Given the description of an element on the screen output the (x, y) to click on. 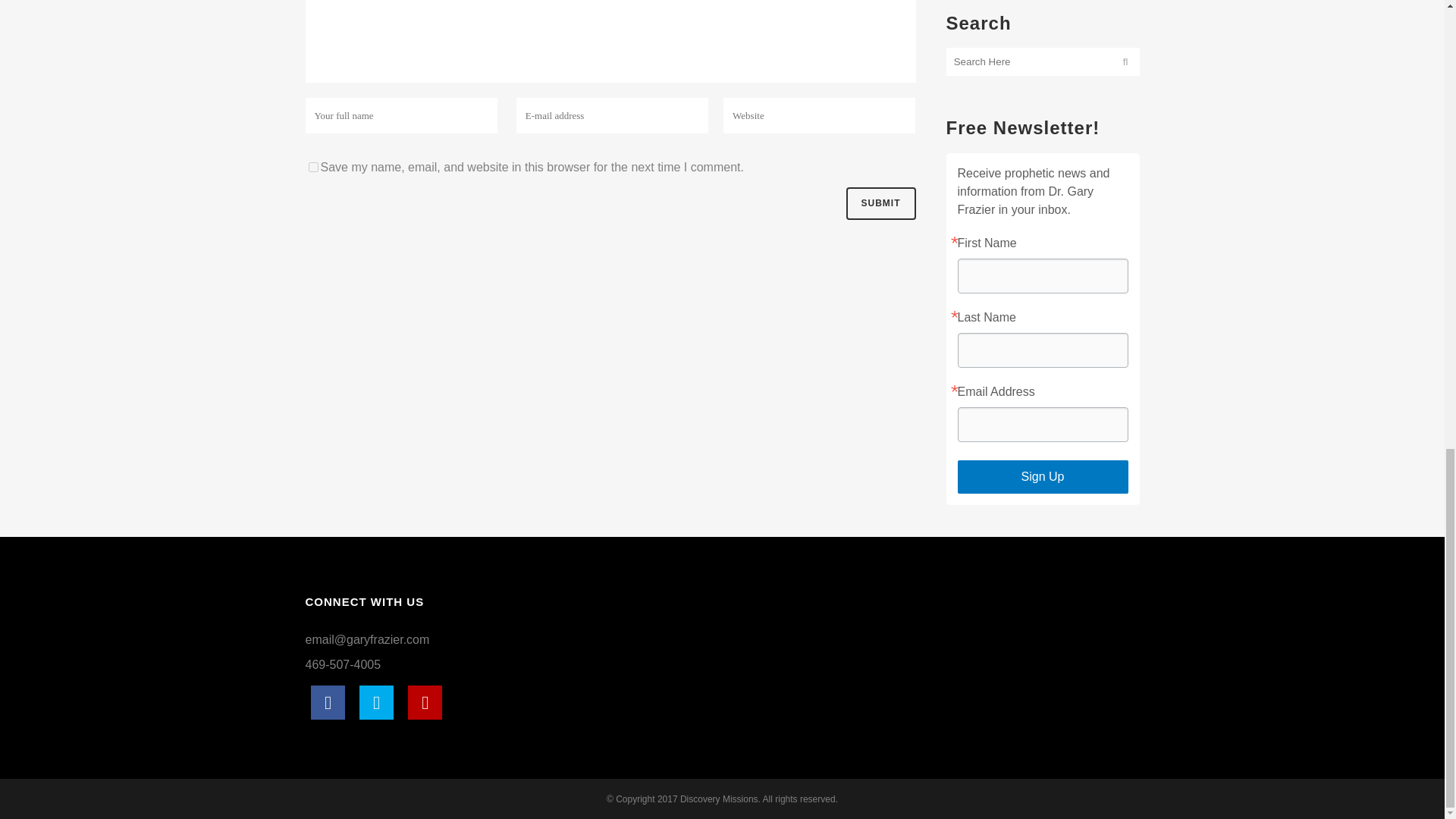
Submit (880, 203)
Submit (880, 203)
yes (312, 166)
